Given the description of an element on the screen output the (x, y) to click on. 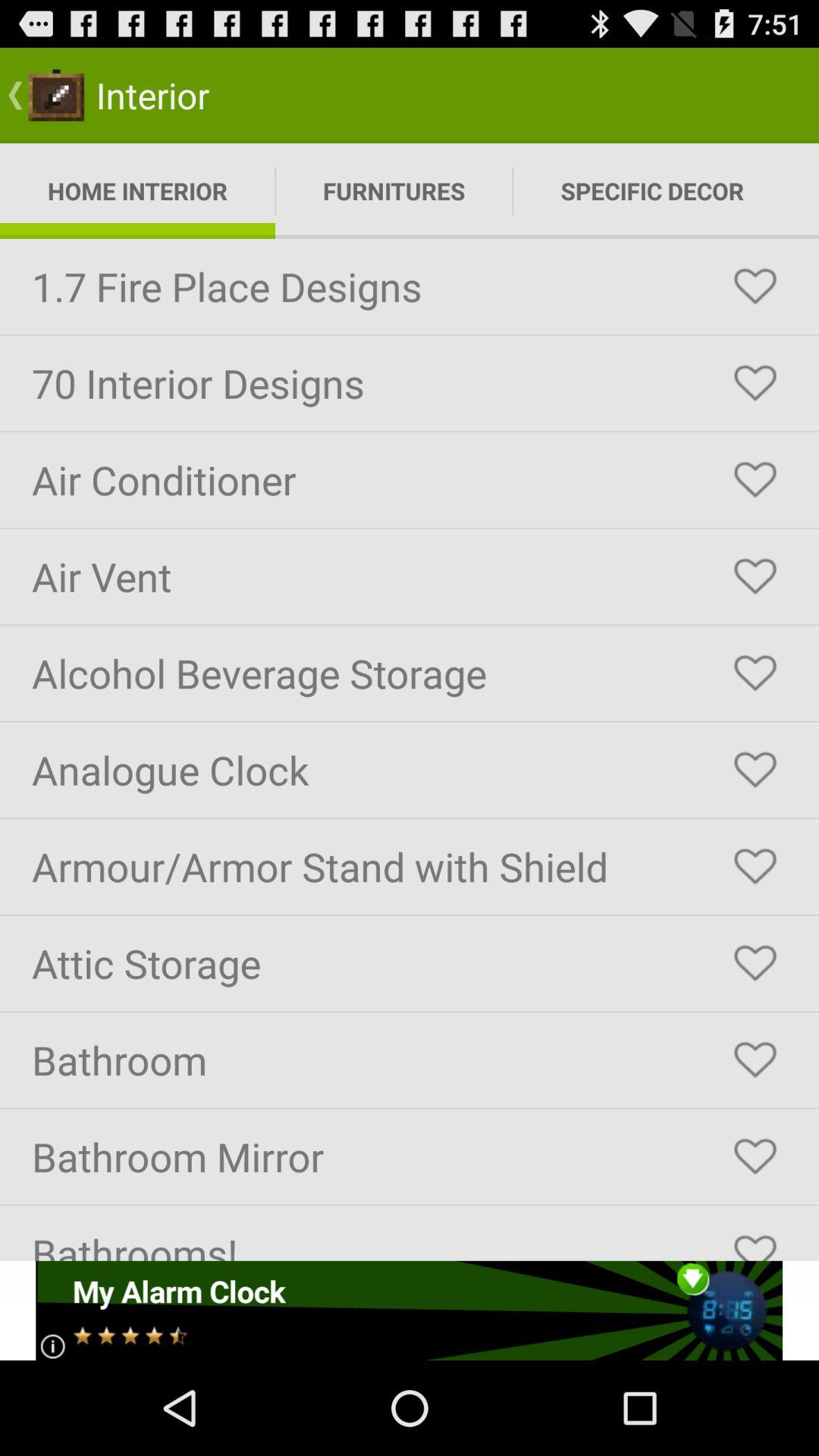
favor (755, 673)
